Given the description of an element on the screen output the (x, y) to click on. 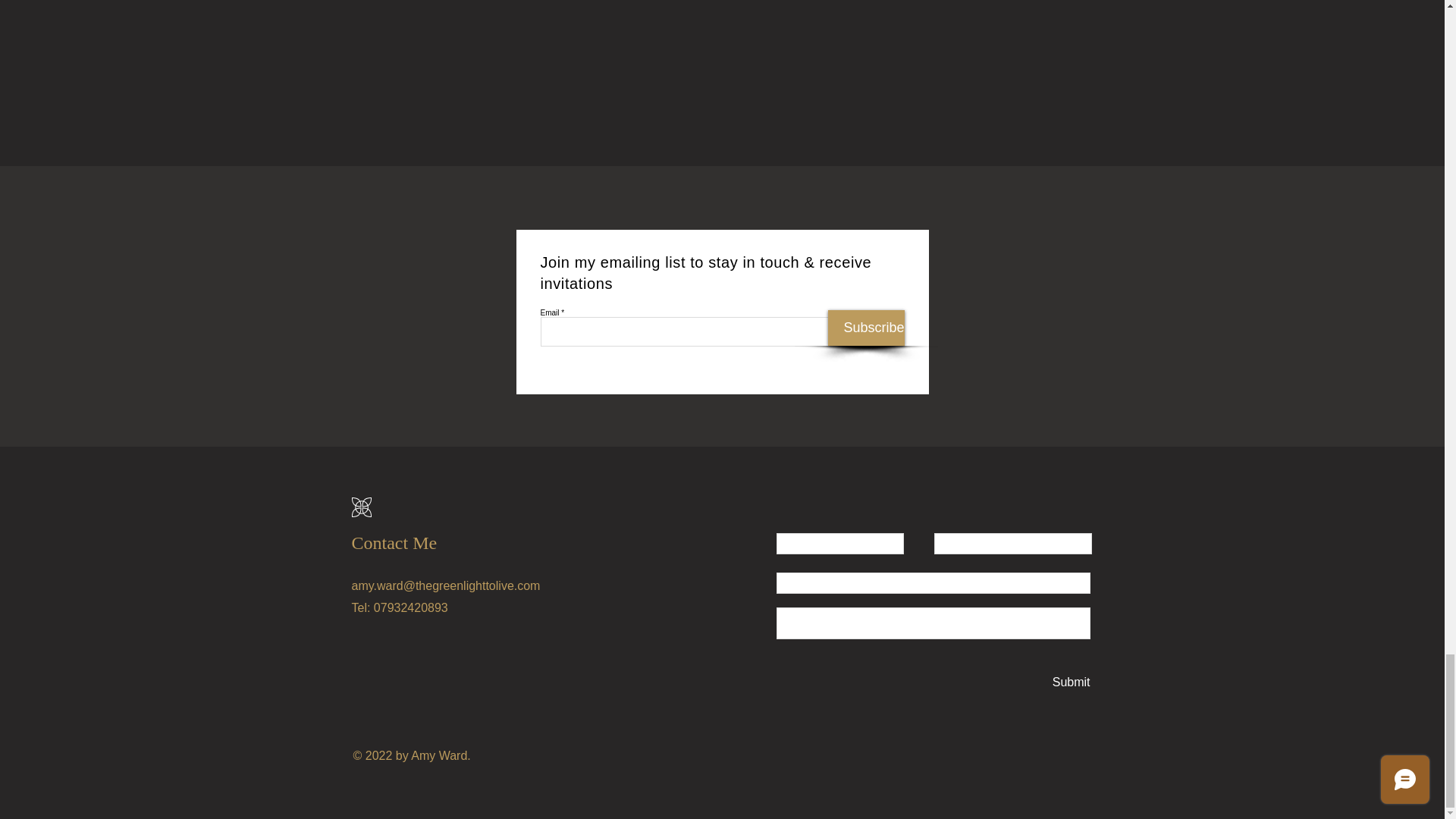
Subscribe (866, 327)
Submit (1069, 682)
Amy Ward (438, 755)
